Given the description of an element on the screen output the (x, y) to click on. 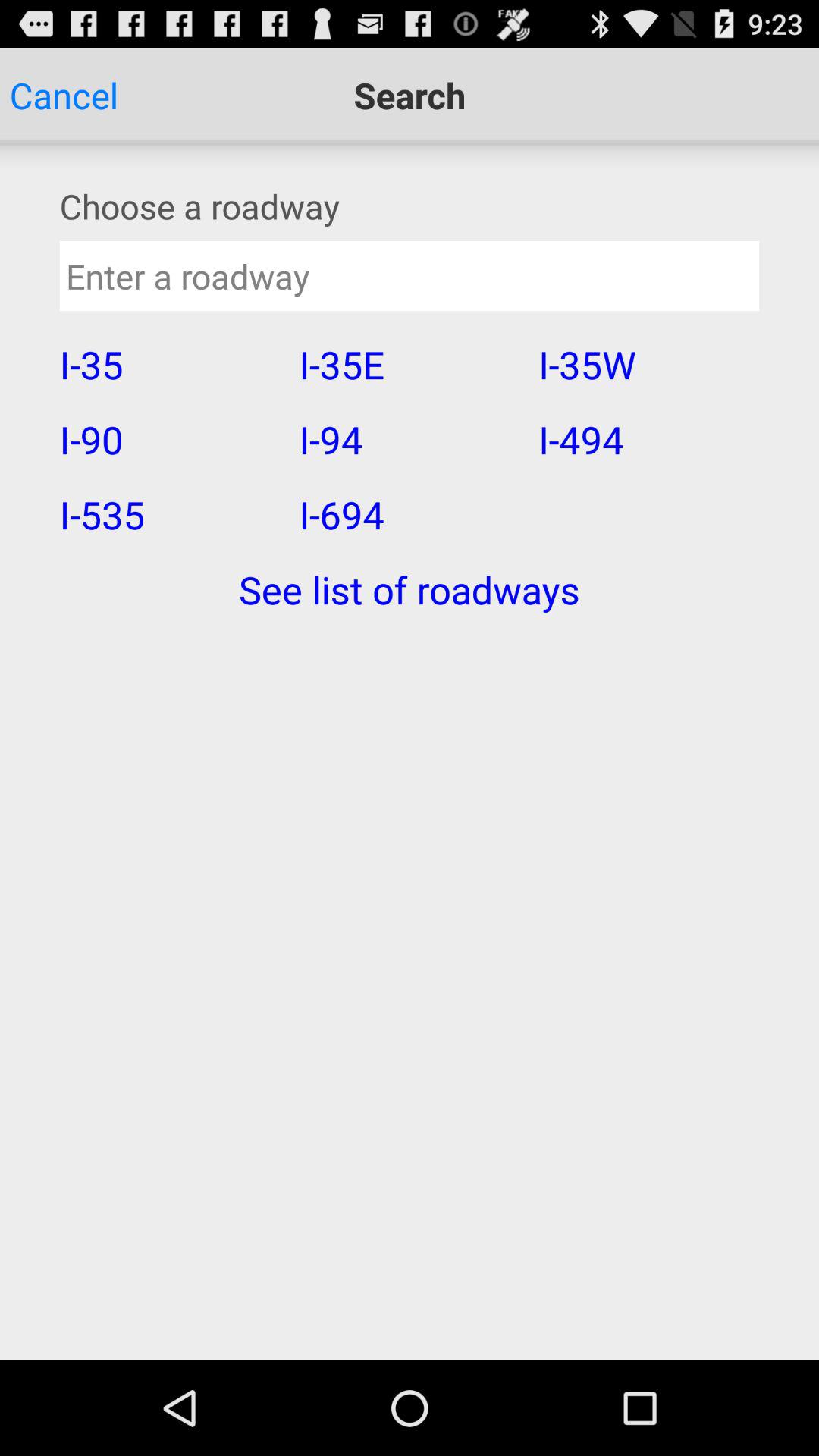
turn on the item above i-535 (169, 439)
